Given the description of an element on the screen output the (x, y) to click on. 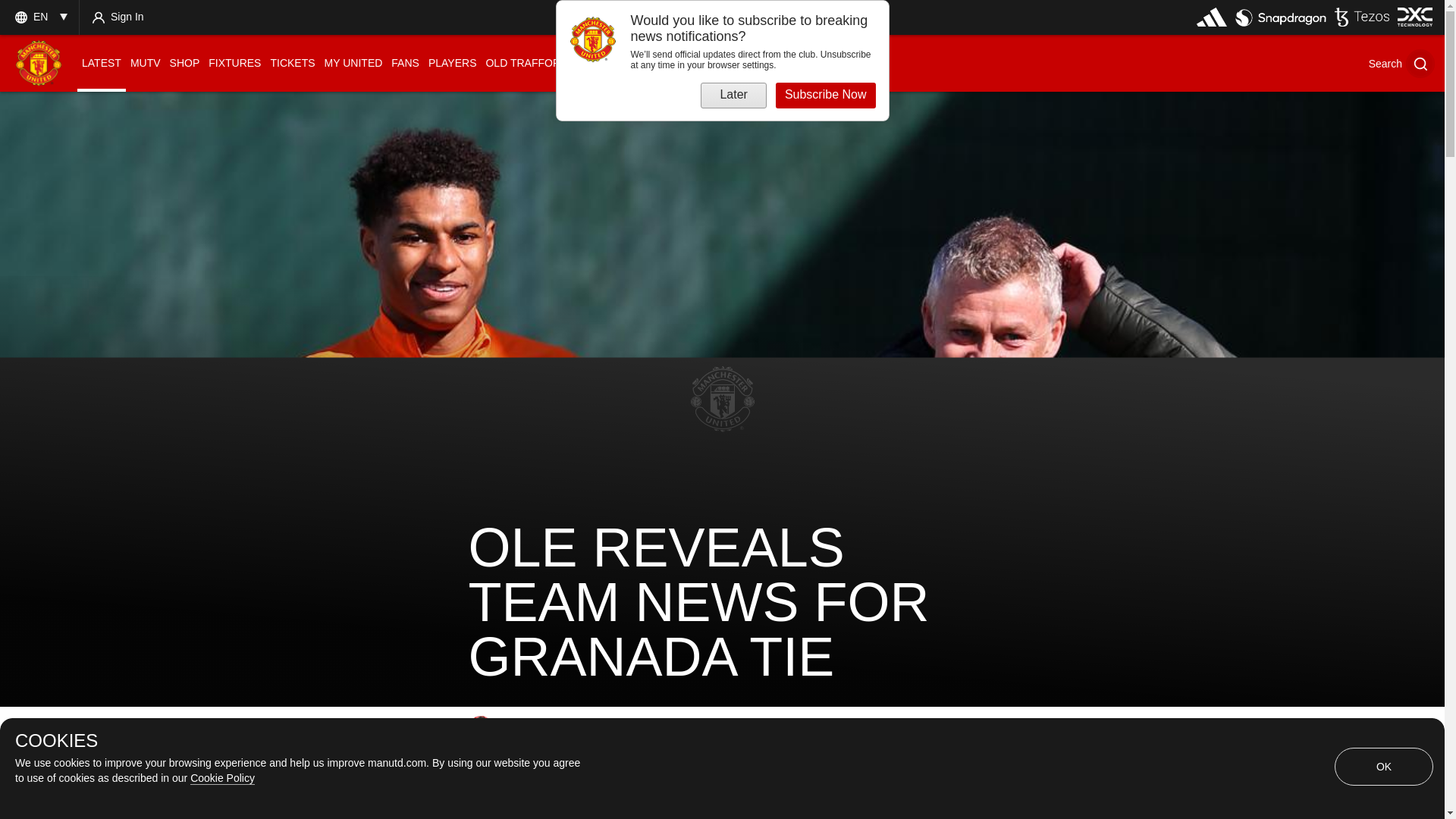
Later (732, 95)
ManUtd.com reporter Adam Marshall at Old Trafford. (480, 727)
Subscribe Now (826, 95)
Cookie Policy (222, 778)
OK (1383, 766)
